Given the description of an element on the screen output the (x, y) to click on. 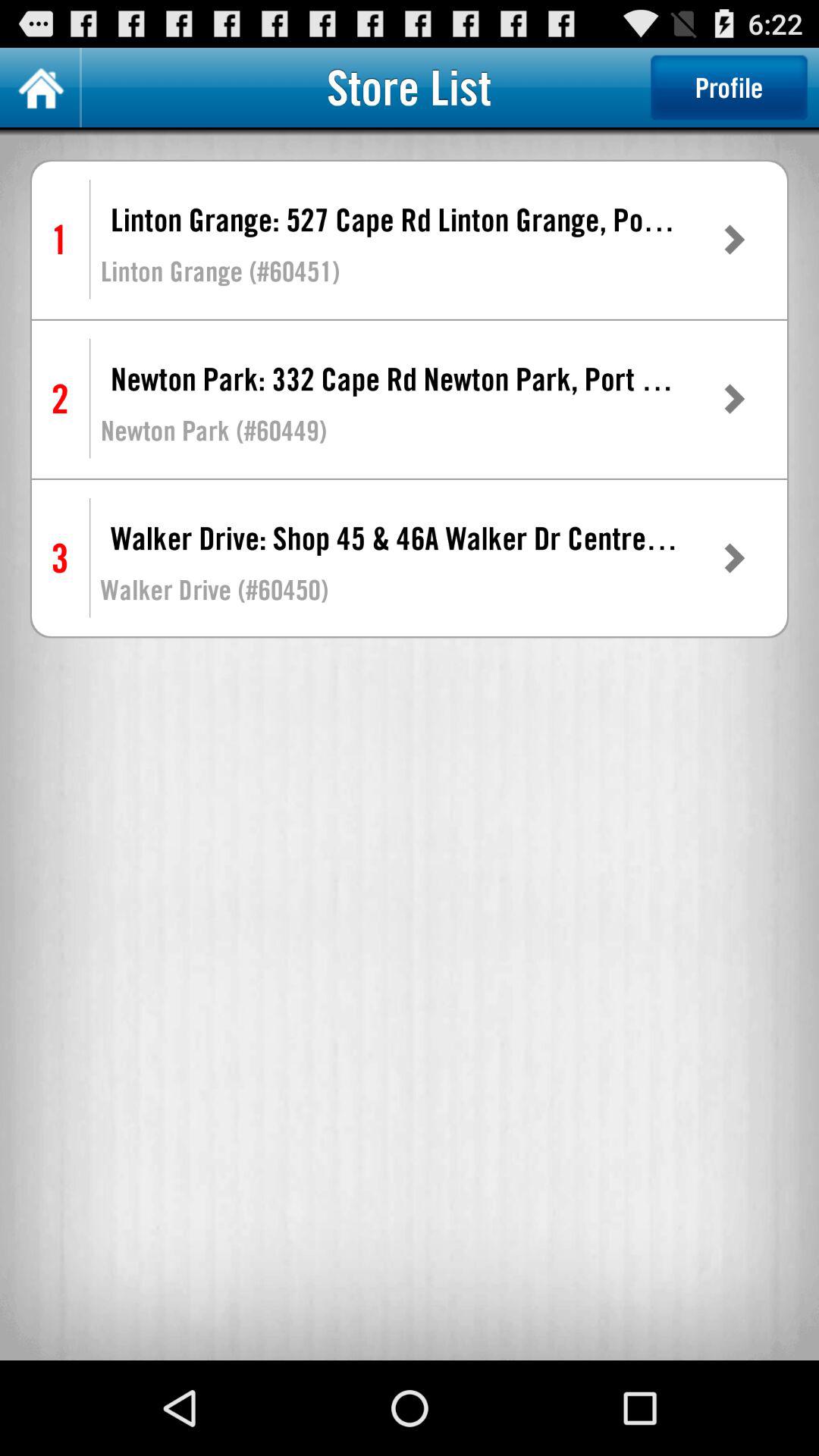
click the icon on the right (733, 558)
